Given the description of an element on the screen output the (x, y) to click on. 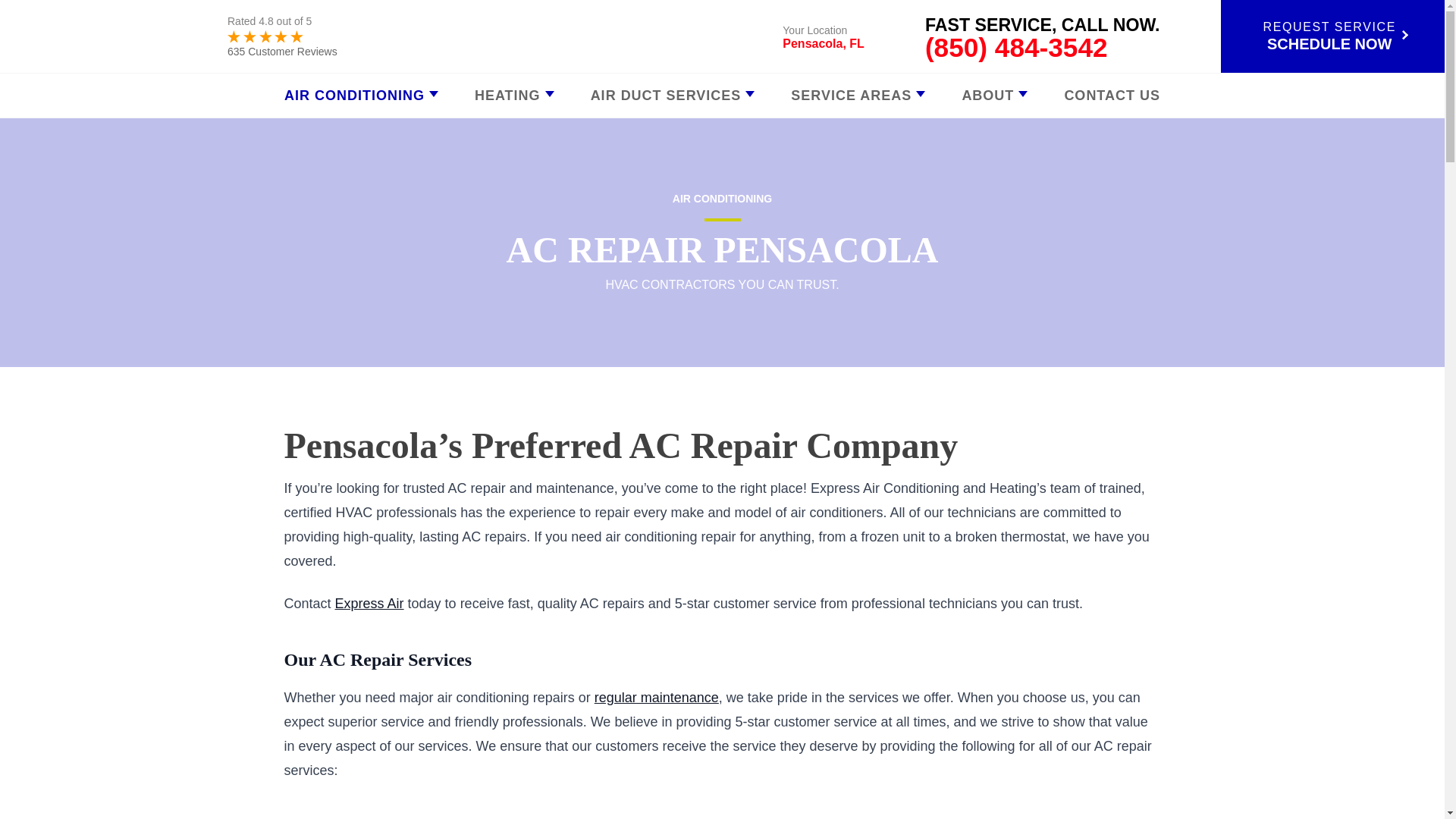
AIR CONDITIONING (360, 95)
